Given the description of an element on the screen output the (x, y) to click on. 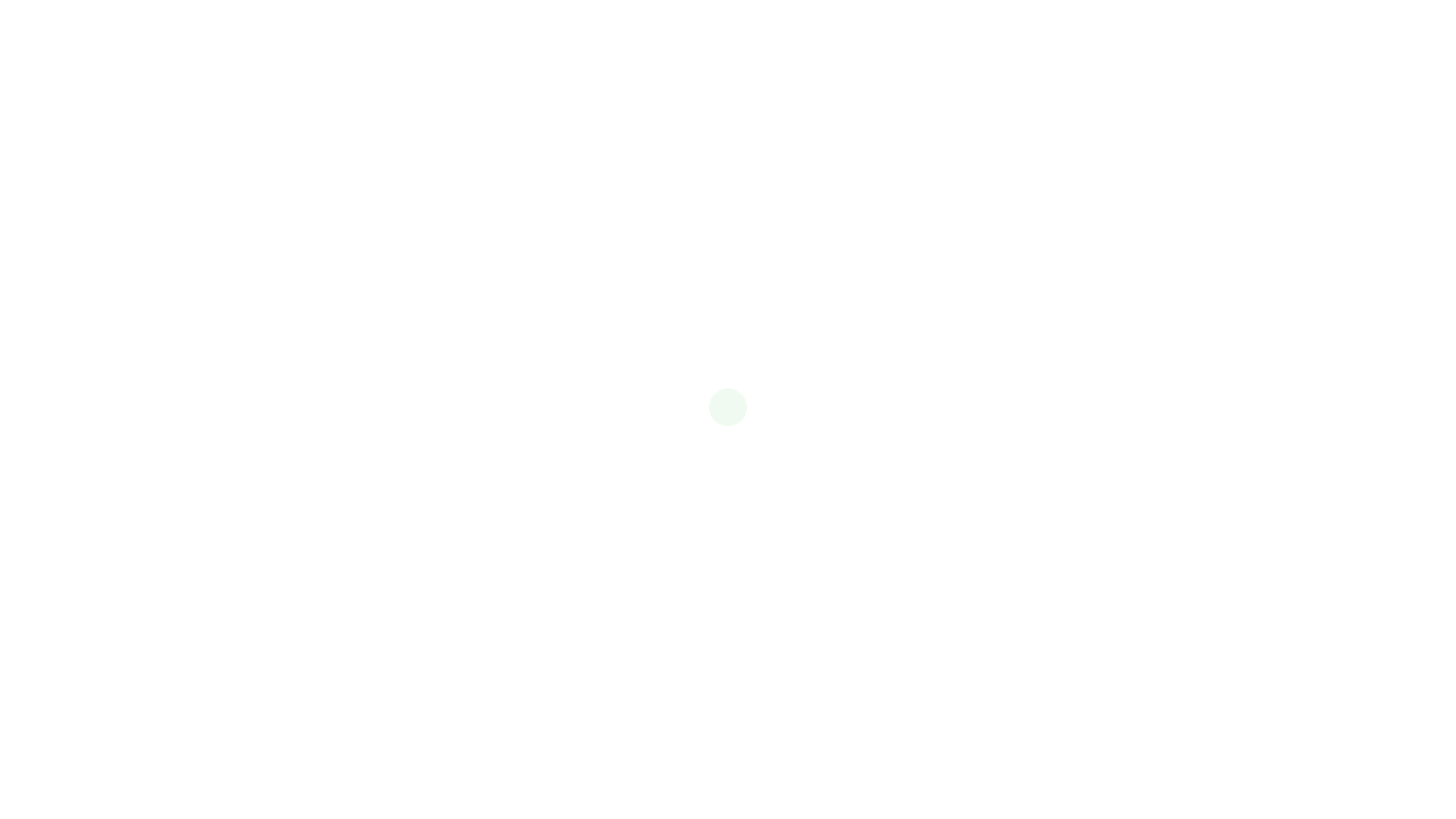
MENU Element type: text (489, 638)
WHITE DATING SITES APP Element type: text (789, 292)
ASSANE GENTIVO Element type: text (913, 292)
